Given the description of an element on the screen output the (x, y) to click on. 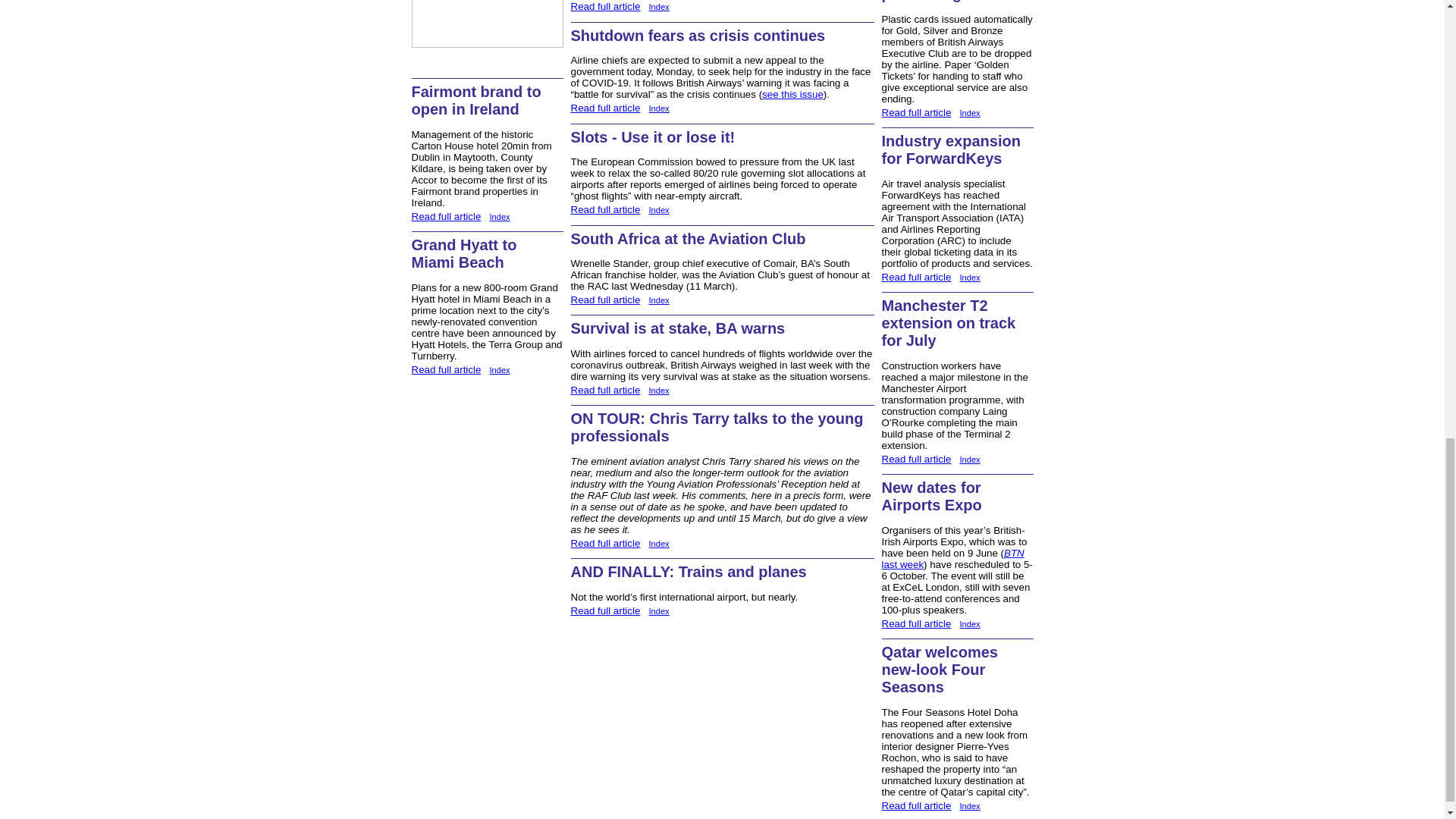
Index (499, 216)
Read full article (445, 215)
Fairmont brand to open in Ireland (475, 100)
Grand Hyatt to Miami Beach (463, 253)
Read full article (445, 369)
